Given the description of an element on the screen output the (x, y) to click on. 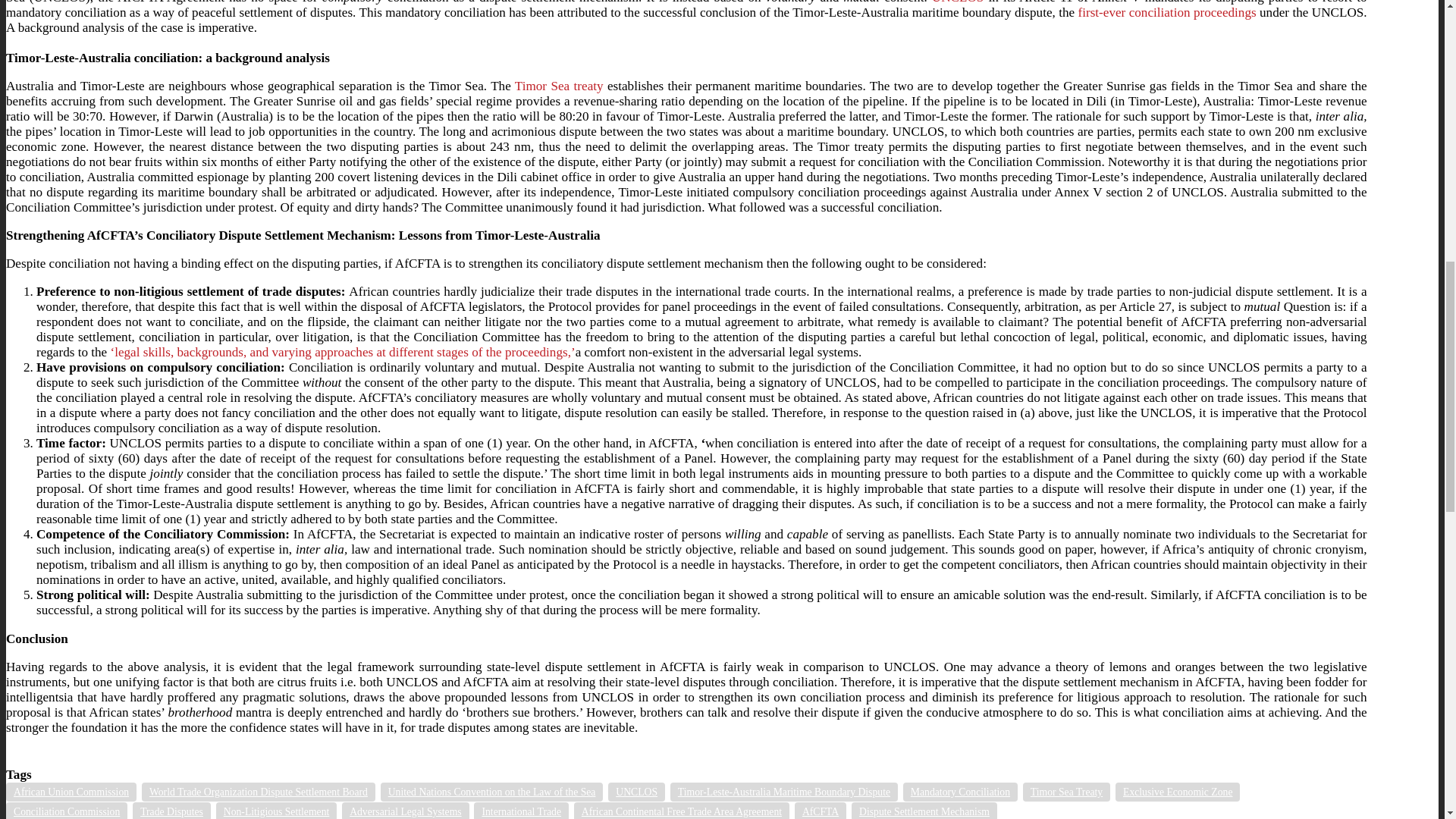
World Trade Organization Dispute Settlement Board (258, 791)
UNCLOS (957, 2)
Timor Sea treaty (559, 85)
UNCLOS (636, 791)
United Nations Convention on the Law of the Sea (492, 791)
Timor-Leste-Australia Maritime Boundary Dispute (783, 791)
first-ever conciliation proceedings (1167, 11)
African Union Commission (70, 791)
